Given the description of an element on the screen output the (x, y) to click on. 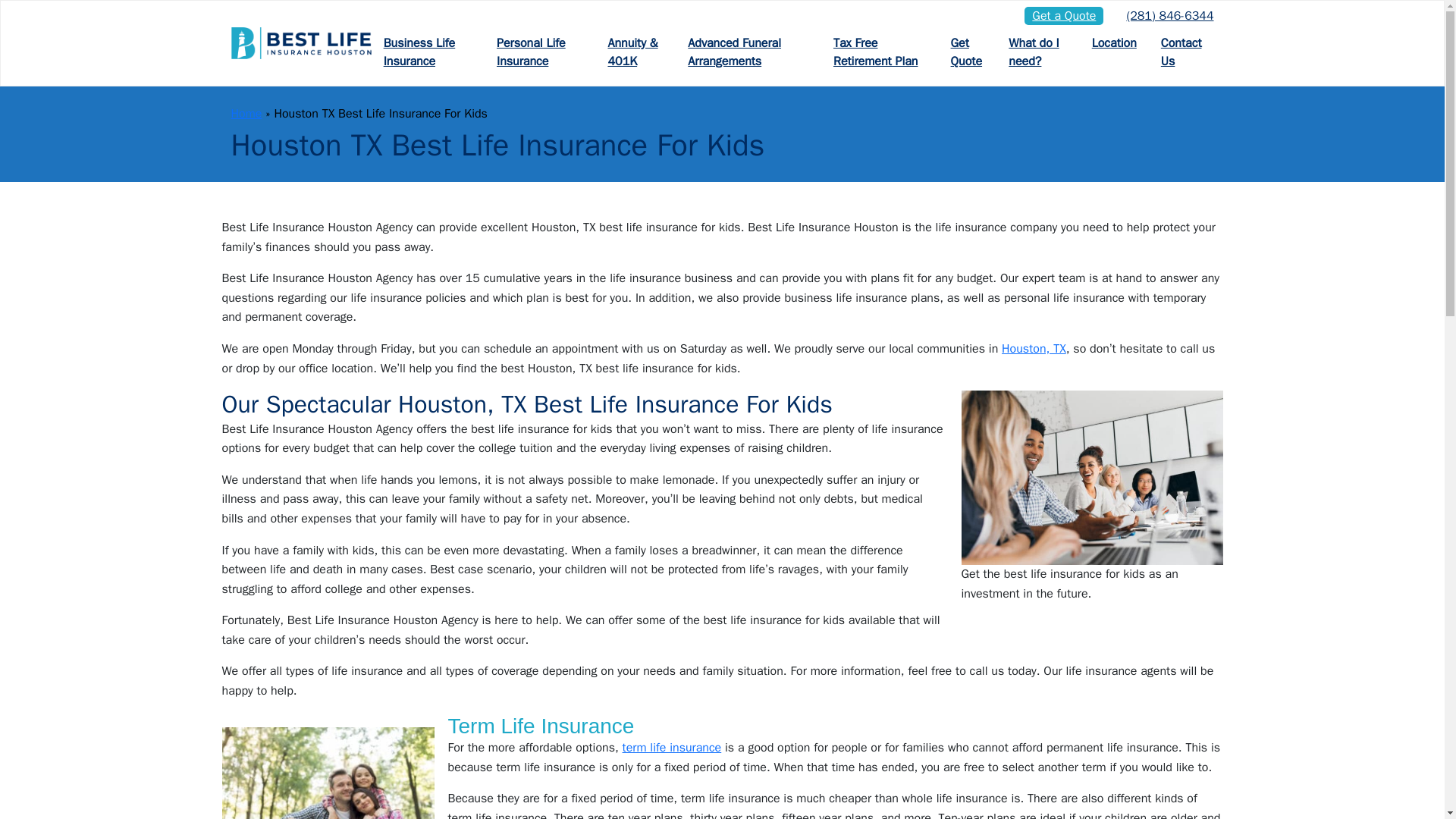
Houston, TX (1033, 348)
Location (1114, 43)
Personal Life Insurance (539, 52)
Advanced Funeral Arrangements (748, 52)
term life insurance (672, 747)
Business Life Insurance (427, 52)
Tax Free Retirement Plan (880, 52)
Home (246, 113)
What do I need? (1036, 52)
Get a Quote (1064, 15)
